Given the description of an element on the screen output the (x, y) to click on. 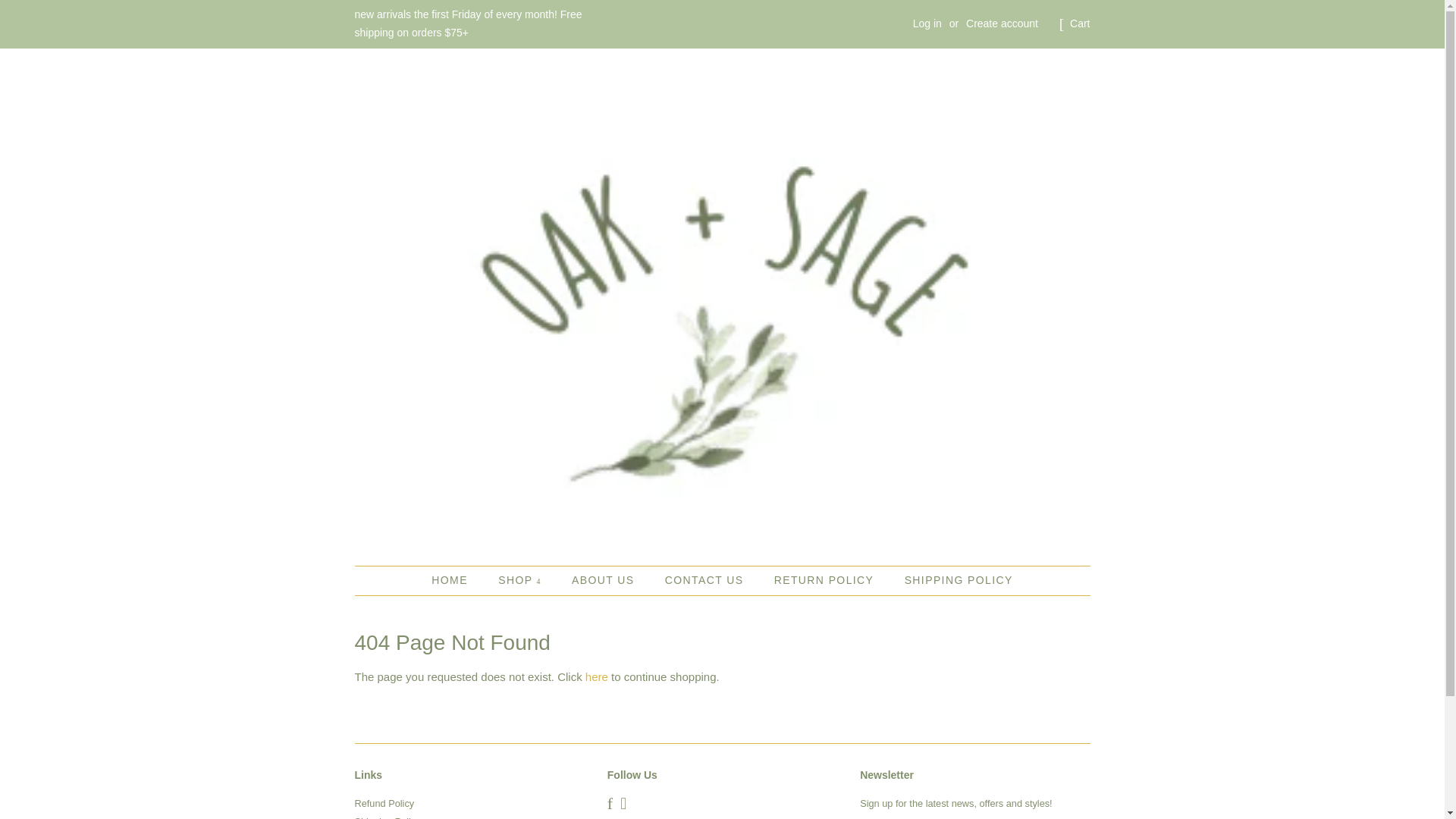
Cart (1079, 24)
Create account (1002, 23)
HOME (456, 580)
Log in (927, 23)
SHOP (521, 580)
